Given the description of an element on the screen output the (x, y) to click on. 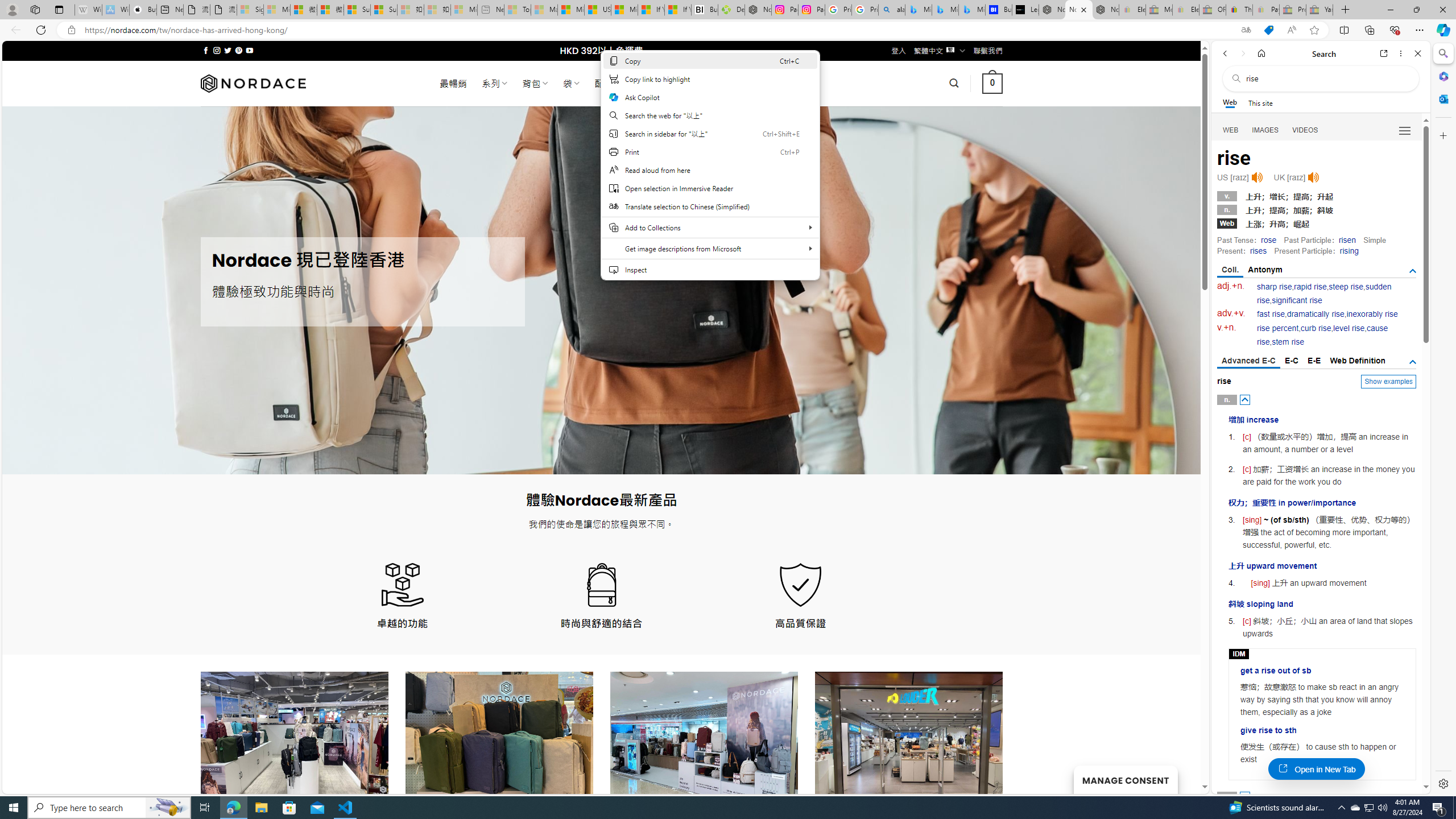
rising (1348, 250)
rapid rise (1310, 286)
E-C (1291, 360)
MANAGE CONSENT (1125, 779)
curb rise (1315, 328)
Print (710, 151)
Threats and offensive language policy | eBay (1239, 9)
